Given the description of an element on the screen output the (x, y) to click on. 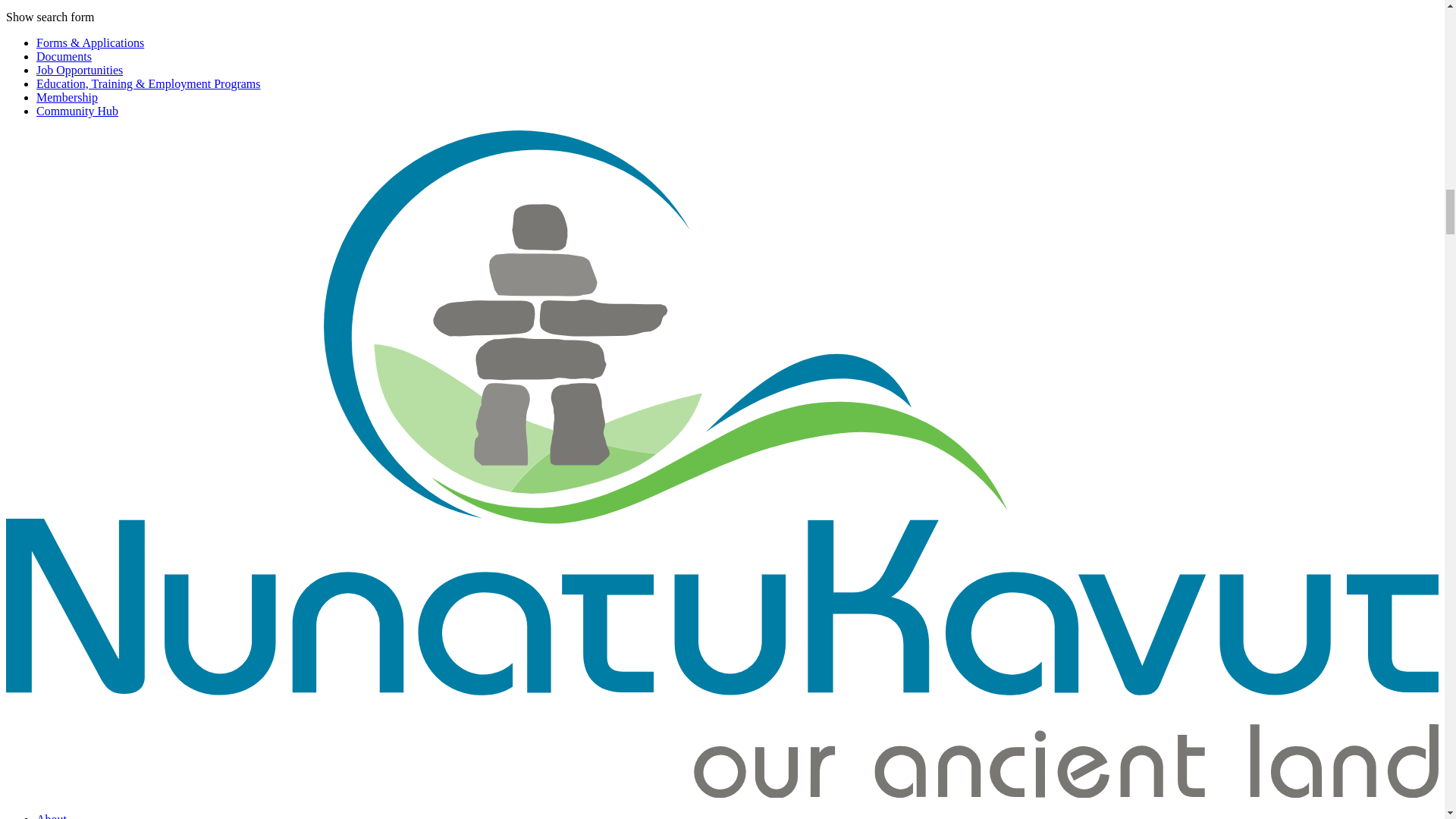
Job Opportunities (79, 69)
Documents (63, 56)
Show search form (49, 16)
Community Hub (76, 110)
About (51, 816)
Membership (66, 97)
